Given the description of an element on the screen output the (x, y) to click on. 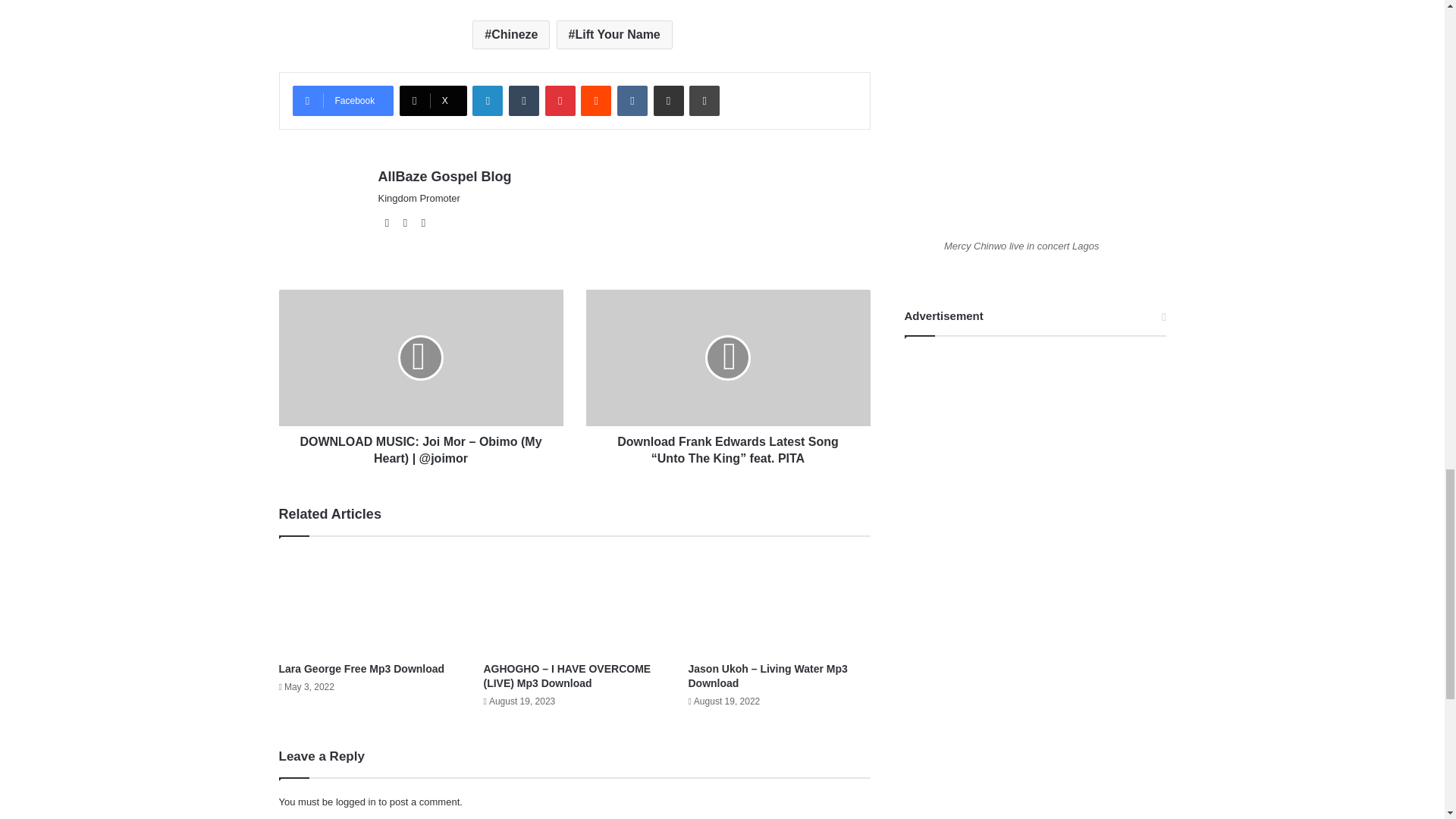
LinkedIn (486, 100)
Reddit (595, 100)
Lift Your Name (614, 34)
Pinterest (559, 100)
Facebook (343, 100)
X (432, 100)
VKontakte (632, 100)
Chineze (510, 34)
Print (703, 100)
Tumblr (523, 100)
X (432, 100)
Facebook (343, 100)
Share via Email (668, 100)
